Given the description of an element on the screen output the (x, y) to click on. 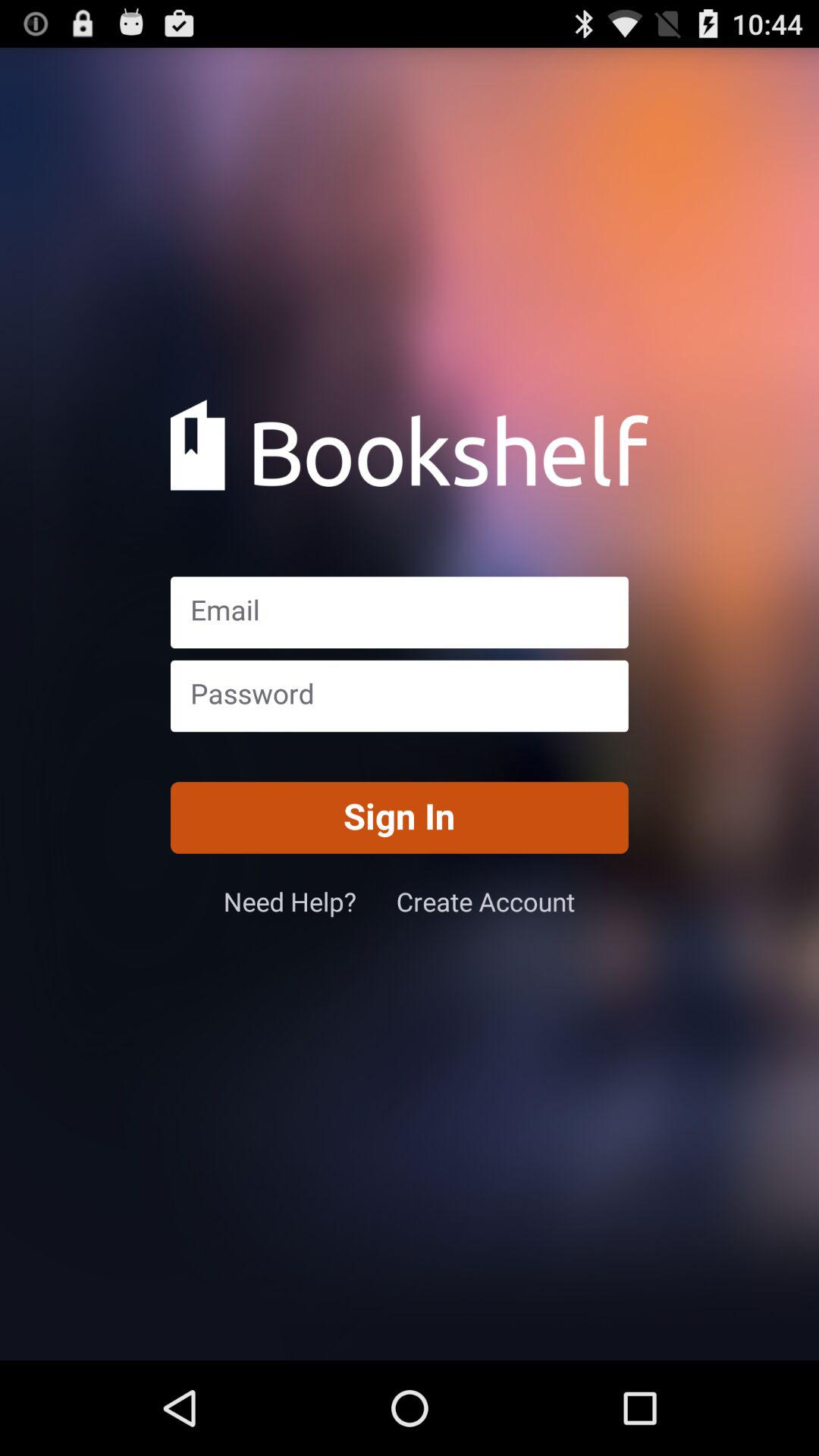
swipe to the need help? (309, 901)
